Given the description of an element on the screen output the (x, y) to click on. 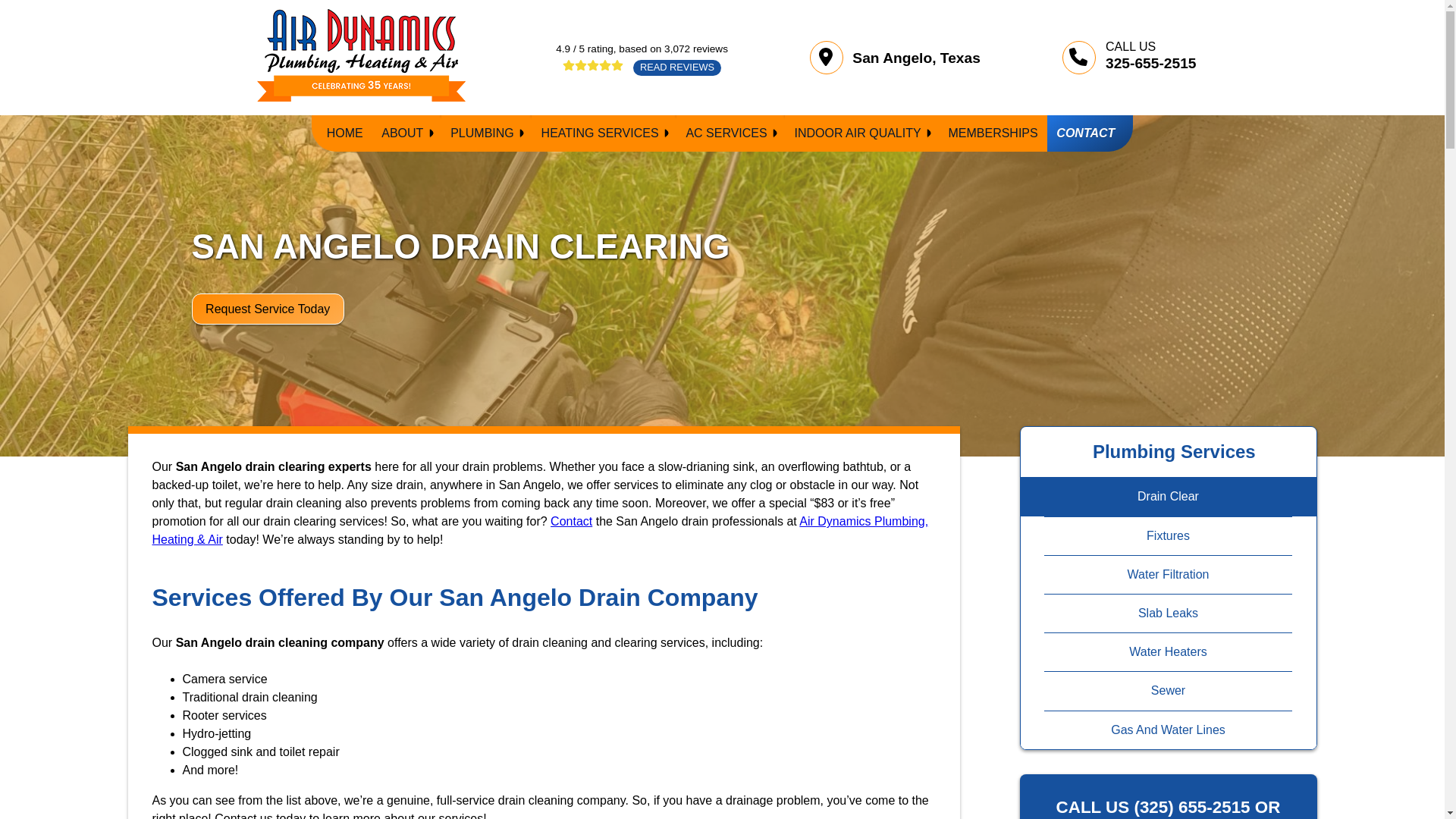
AC REPLACEMENT (771, 12)
HVAC SAVINGS CALCULATOR (625, 92)
HEATING SERVICES (604, 133)
GAS AND WATER LINES (535, 66)
SUMP PUMPS (535, 98)
SEWER (535, 34)
SERVICE AREAS (467, 9)
FURNACE REPAIR (625, 22)
READ REVIEWS (641, 65)
